Given the description of an element on the screen output the (x, y) to click on. 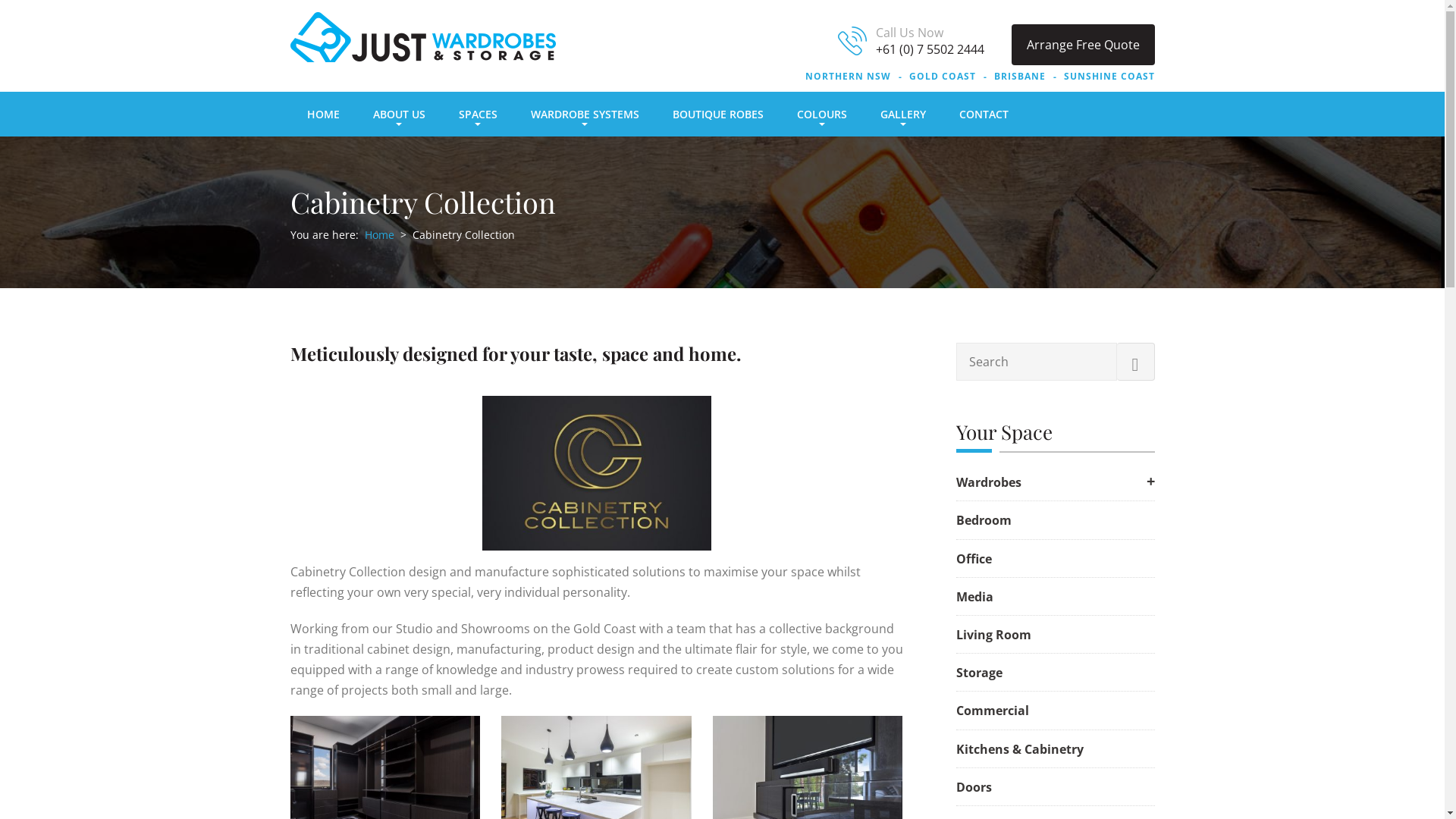
Commercial Element type: text (1054, 711)
SPACES Element type: text (477, 113)
Media Element type: text (1054, 597)
+61 (0) 7 5502 2444 Element type: text (929, 48)
WARDROBE SYSTEMS Element type: text (584, 113)
ABOUT US Element type: text (399, 113)
Arrange Free Quote Element type: text (1082, 44)
Office Element type: text (1054, 559)
Kitchens & Cabinetry Element type: text (1054, 749)
Bedroom Element type: text (1054, 520)
Doors Element type: text (1054, 787)
Home Element type: text (378, 234)
Living Room Element type: text (1054, 635)
BOUTIQUE ROBES Element type: text (717, 113)
Storage Element type: text (1054, 673)
Wardrobes Element type: text (1054, 482)
Just Wardrobes & Storage Element type: hover (422, 37)
HOME Element type: text (322, 113)
COLOURS Element type: text (820, 113)
GALLERY Element type: text (901, 113)
CONTACT Element type: text (982, 113)
